Given the description of an element on the screen output the (x, y) to click on. 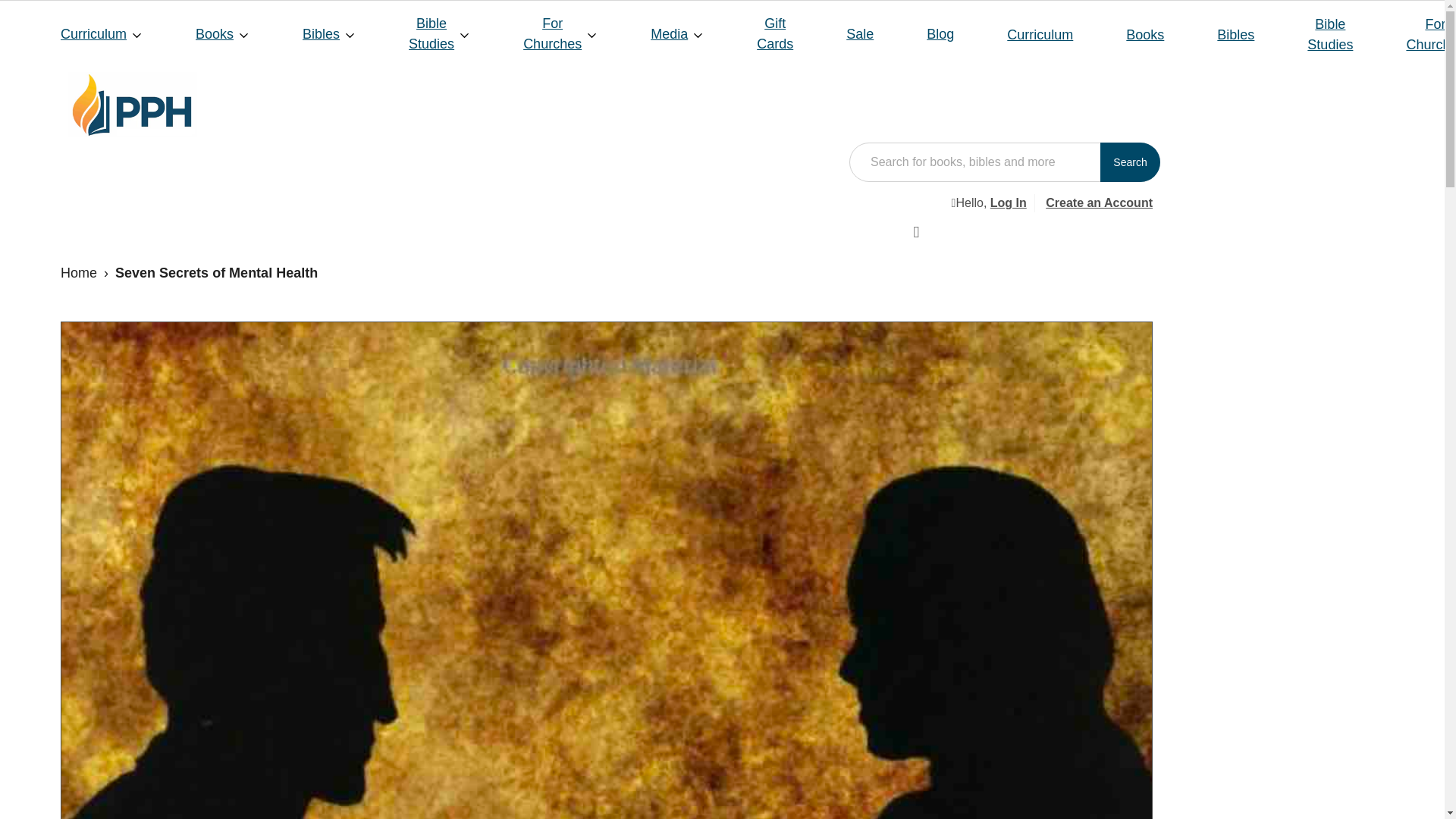
Home (79, 272)
Books (222, 33)
Curriculum (100, 33)
